Given the description of an element on the screen output the (x, y) to click on. 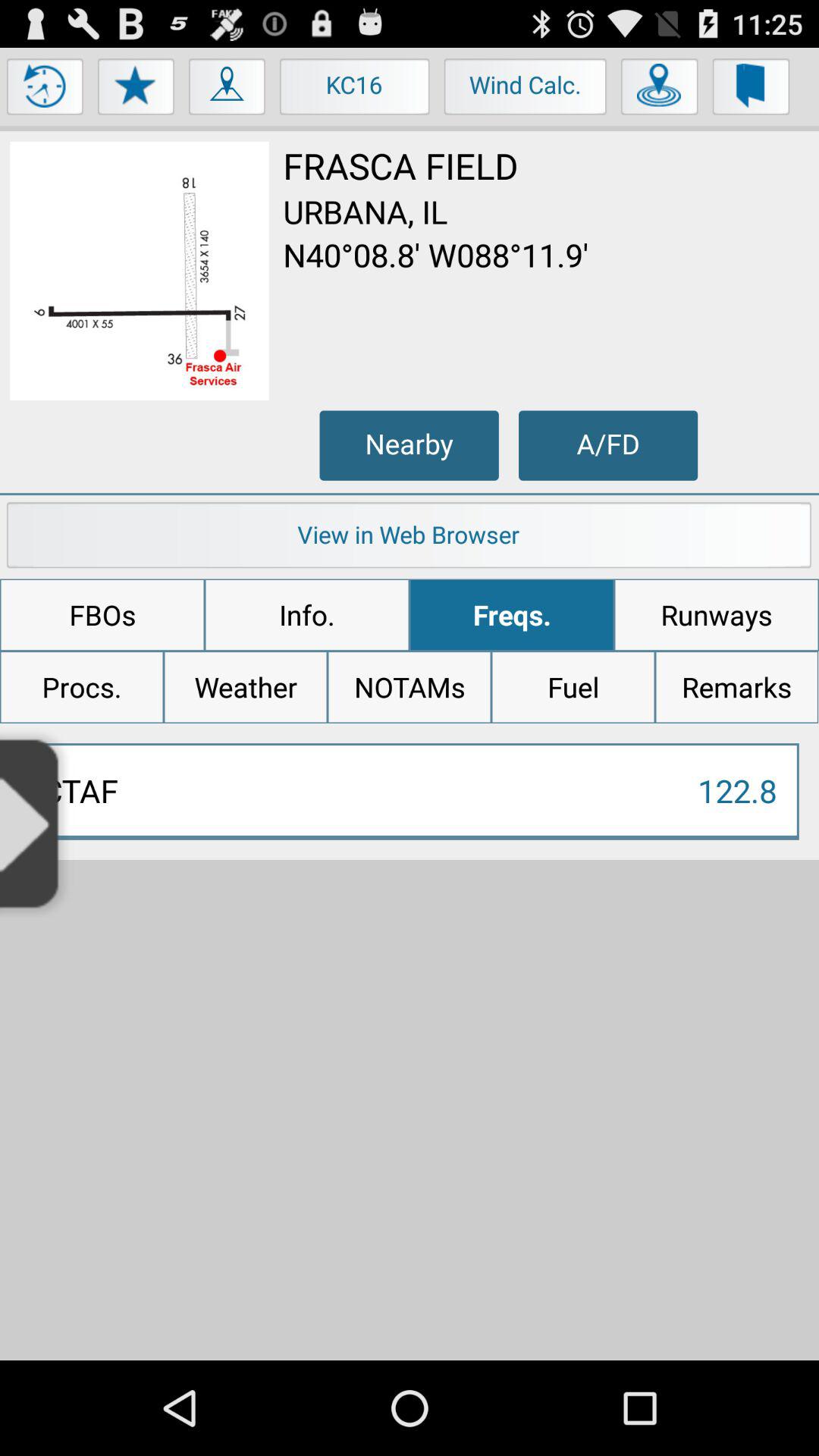
tap the item to the left of kc16 button (227, 90)
